Given the description of an element on the screen output the (x, y) to click on. 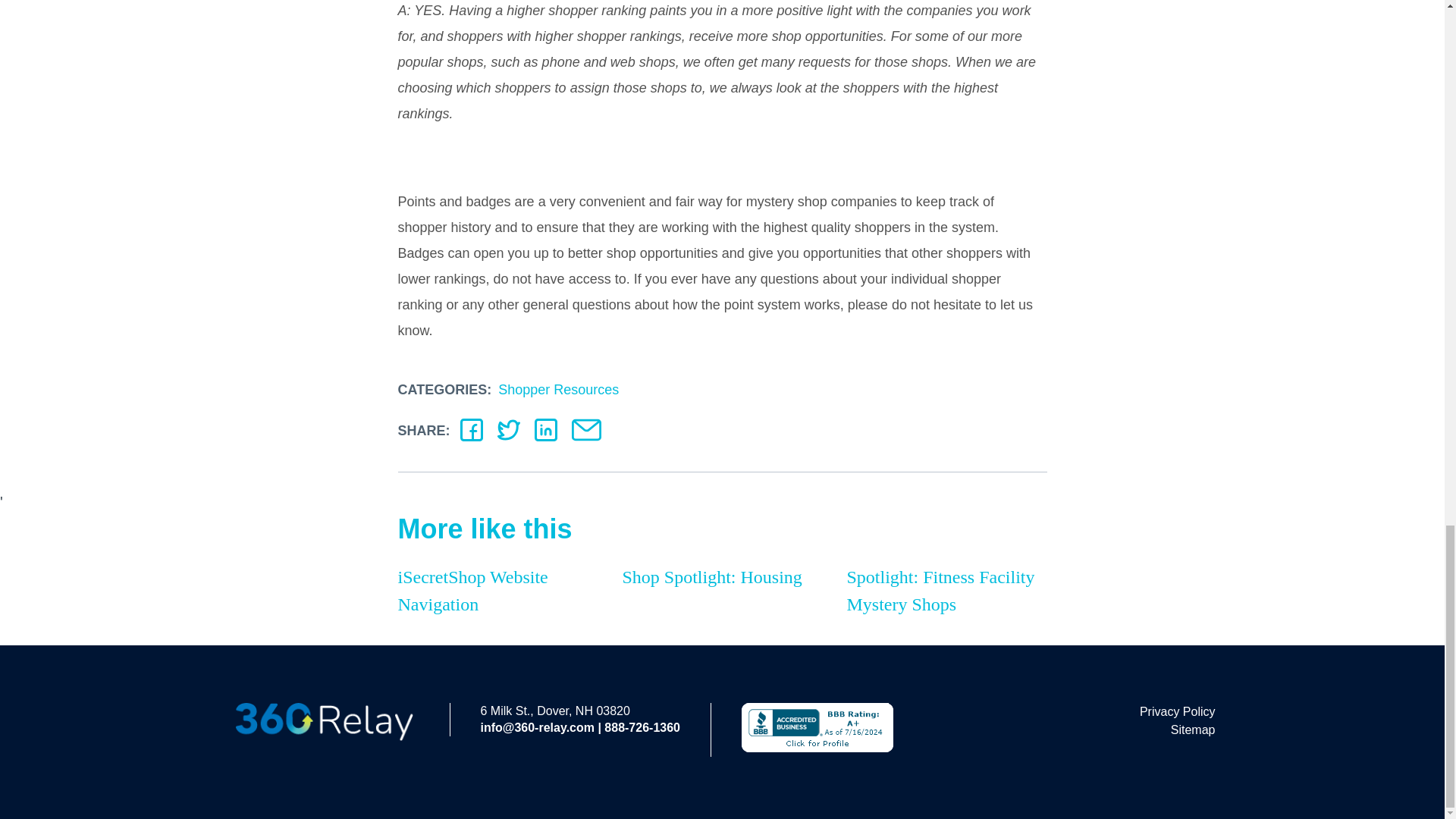
iSecretShop Website Navigation (496, 589)
Twitter (508, 429)
Shop Spotlight: Housing (721, 575)
Email (586, 429)
Spotlight: Fitness Facility Mystery Shops (945, 589)
Facebook (471, 429)
Sitemap (1177, 729)
LinkedIn (545, 429)
Privacy Policy (1177, 710)
Shopper Resources (557, 389)
